Given the description of an element on the screen output the (x, y) to click on. 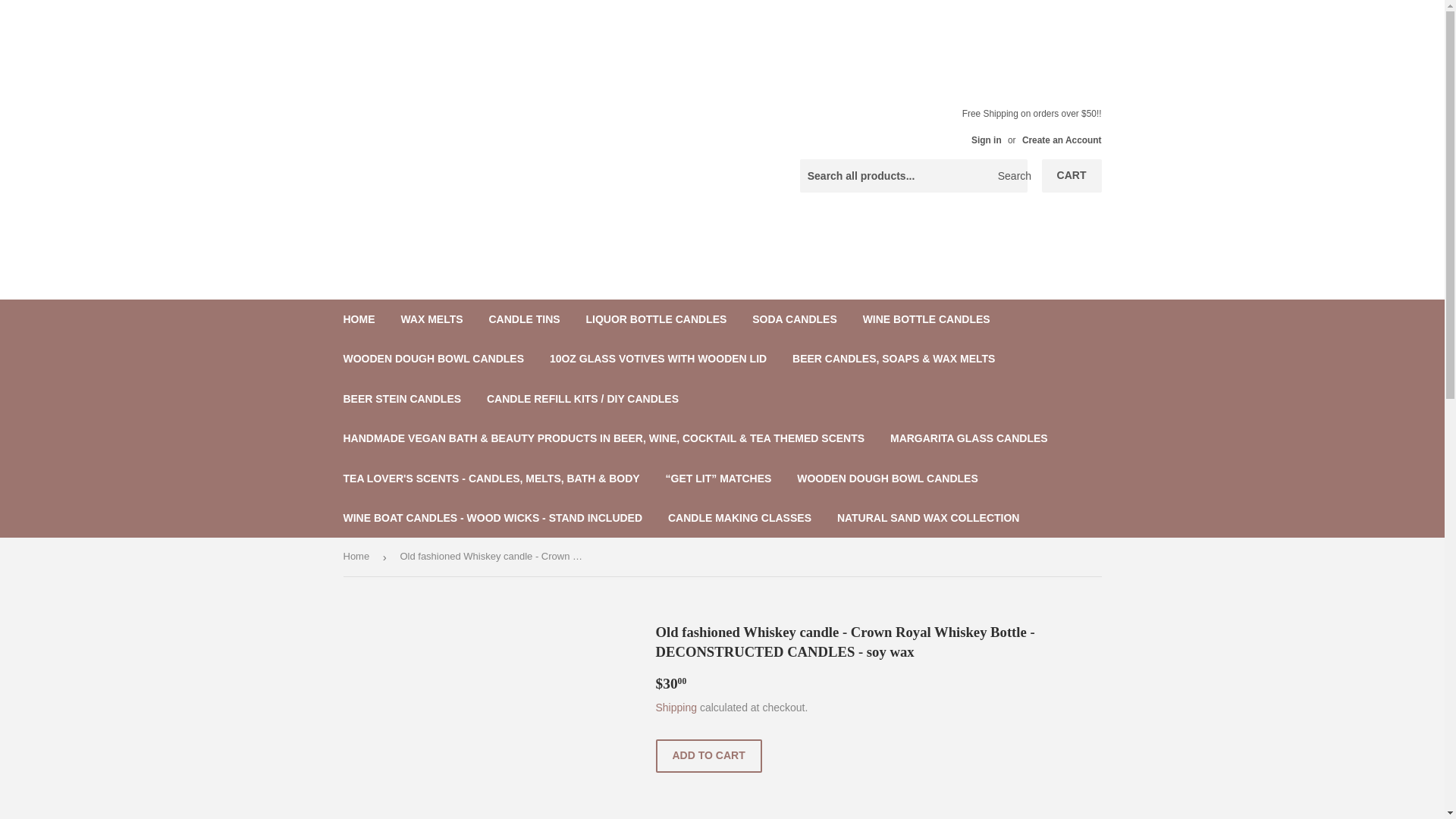
SODA CANDLES (794, 319)
Search (1009, 176)
Create an Account (1062, 140)
Sign in (986, 140)
CART (1072, 175)
HOME (359, 319)
BEER STEIN CANDLES (402, 398)
WINE BOTTLE CANDLES (926, 319)
CANDLE TINS (523, 319)
Back to the frontpage (358, 556)
10OZ GLASS VOTIVES WITH WOODEN LID (657, 358)
LIQUOR BOTTLE CANDLES (655, 319)
WAX MELTS (431, 319)
WOODEN DOUGH BOWL CANDLES (433, 358)
